Given the description of an element on the screen output the (x, y) to click on. 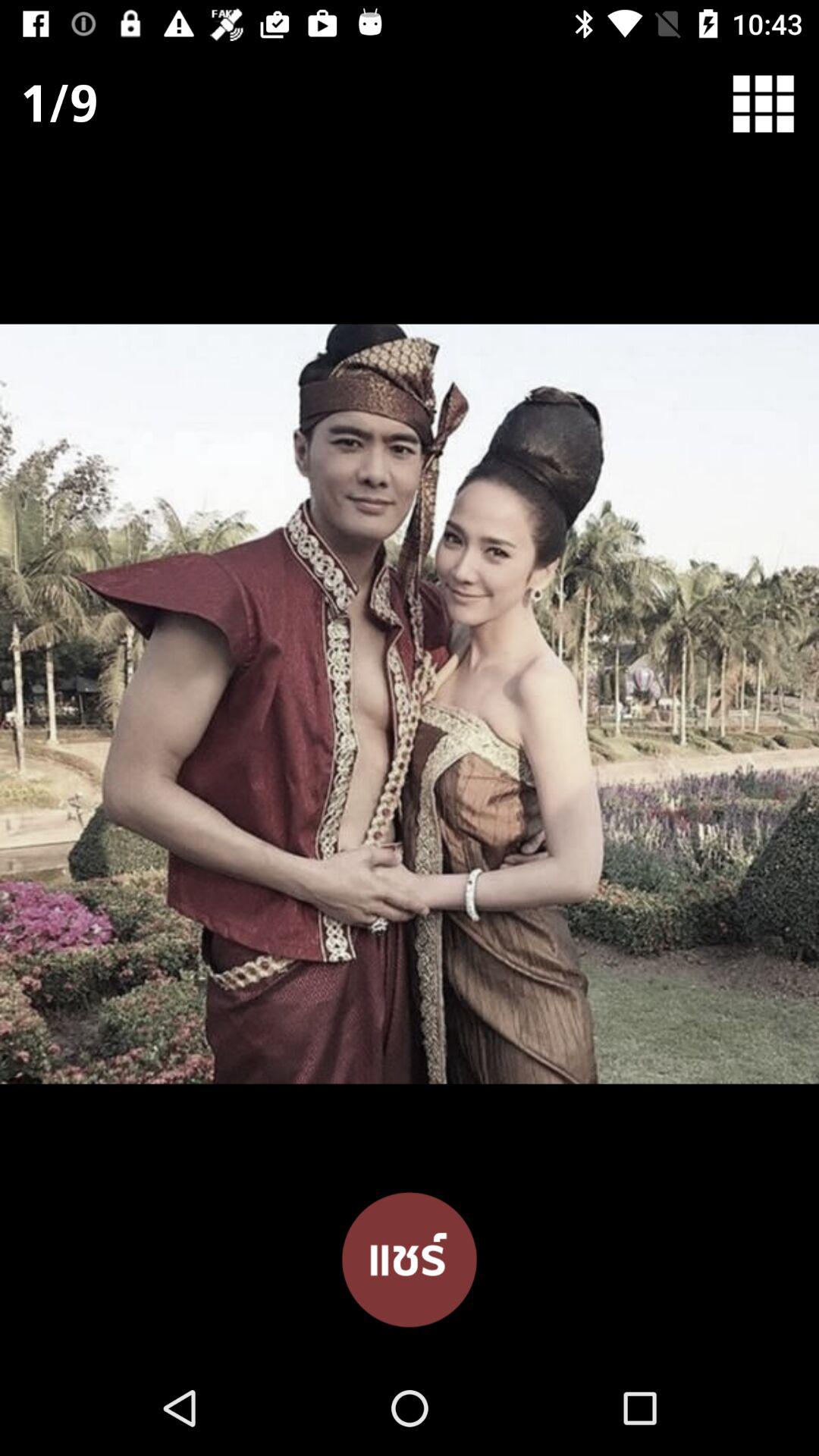
turn off icon next to /9 (773, 103)
